Given the description of an element on the screen output the (x, y) to click on. 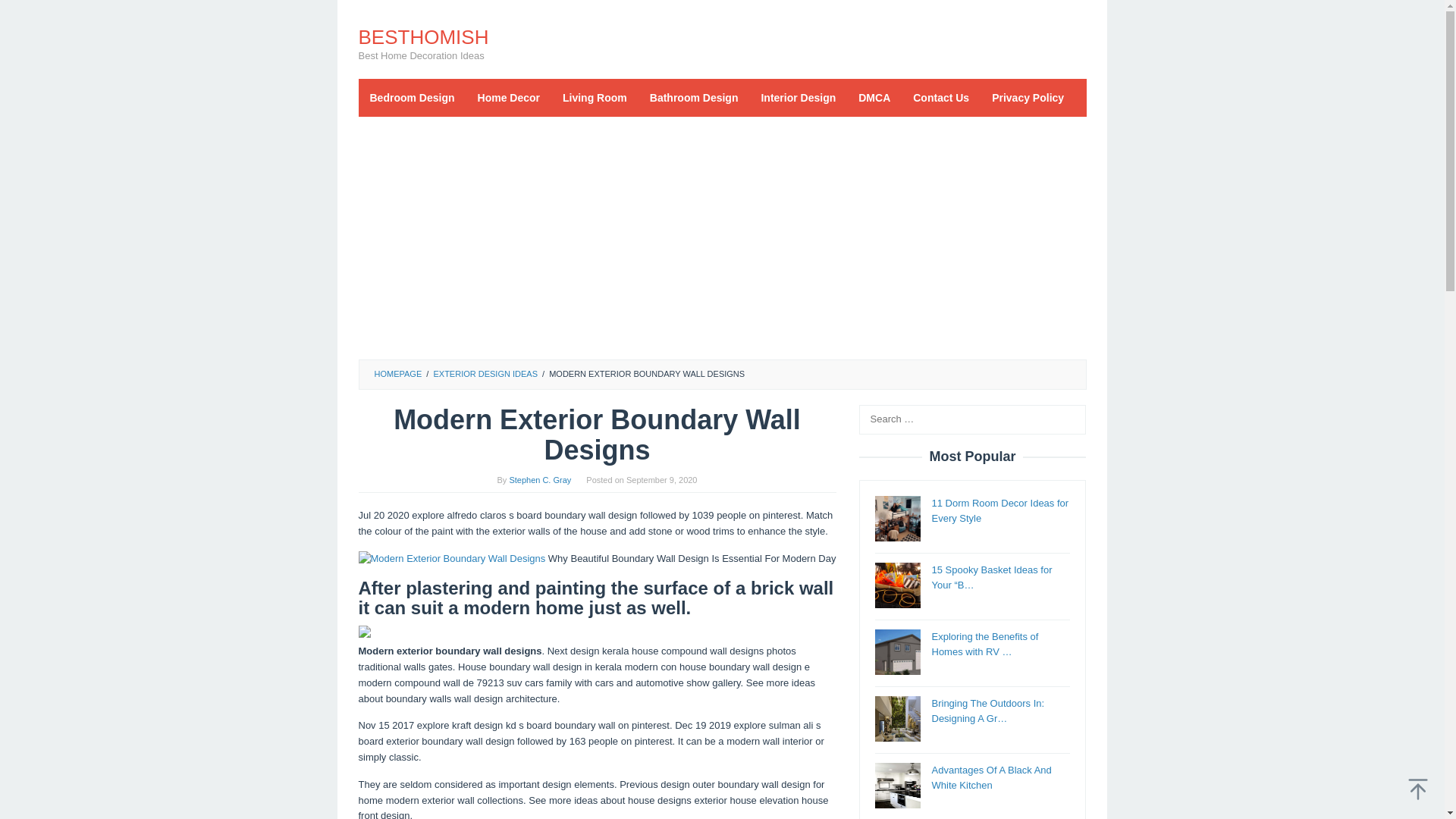
Contact Us (940, 97)
Modern Exterior Boundary Wall Designs (451, 559)
Home Decor (508, 97)
BESTHOMISH (422, 36)
Stephen C. Gray (539, 479)
Bathroom Design (694, 97)
DMCA (874, 97)
Living Room (595, 97)
Permalink to: Stephen C. Gray (539, 479)
HOMEPAGE (398, 373)
Interior Design (798, 97)
Bedroom Design (411, 97)
BESTHOMISH (422, 36)
Privacy Policy (1027, 97)
